Given the description of an element on the screen output the (x, y) to click on. 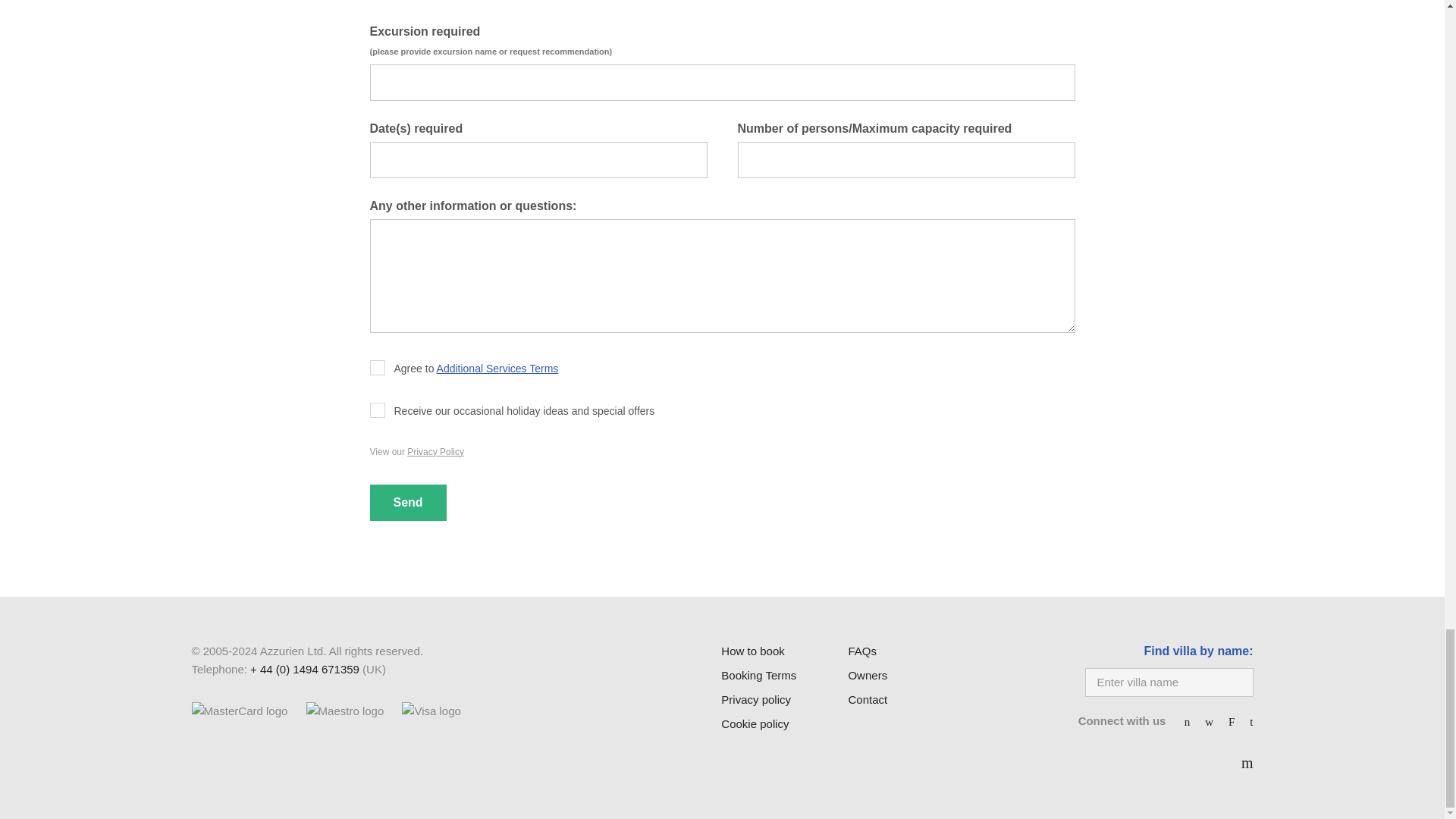
Contact (866, 698)
Privacy Policy (435, 451)
Owners (866, 675)
FAQs (861, 650)
Cookie policy (754, 723)
Booking Terms (758, 675)
How to book (752, 650)
Privacy policy (755, 698)
Additional Services Terms (497, 368)
Send (407, 502)
